Given the description of an element on the screen output the (x, y) to click on. 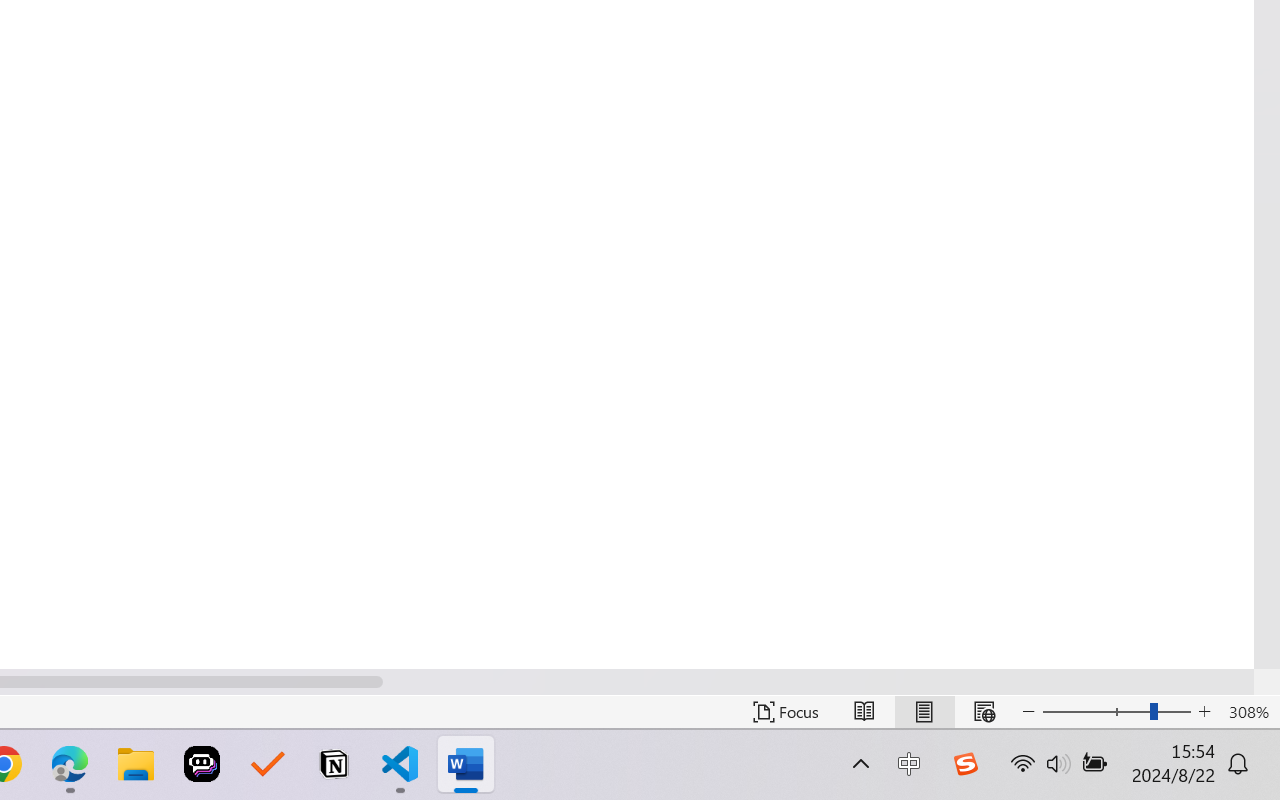
Focus  (786, 712)
Zoom Out (1095, 712)
Read Mode (864, 712)
Zoom In (1204, 712)
Zoom 308% (1249, 712)
Print Layout (924, 712)
Web Layout (984, 712)
Zoom (1116, 712)
Class: Image (965, 764)
